Given the description of an element on the screen output the (x, y) to click on. 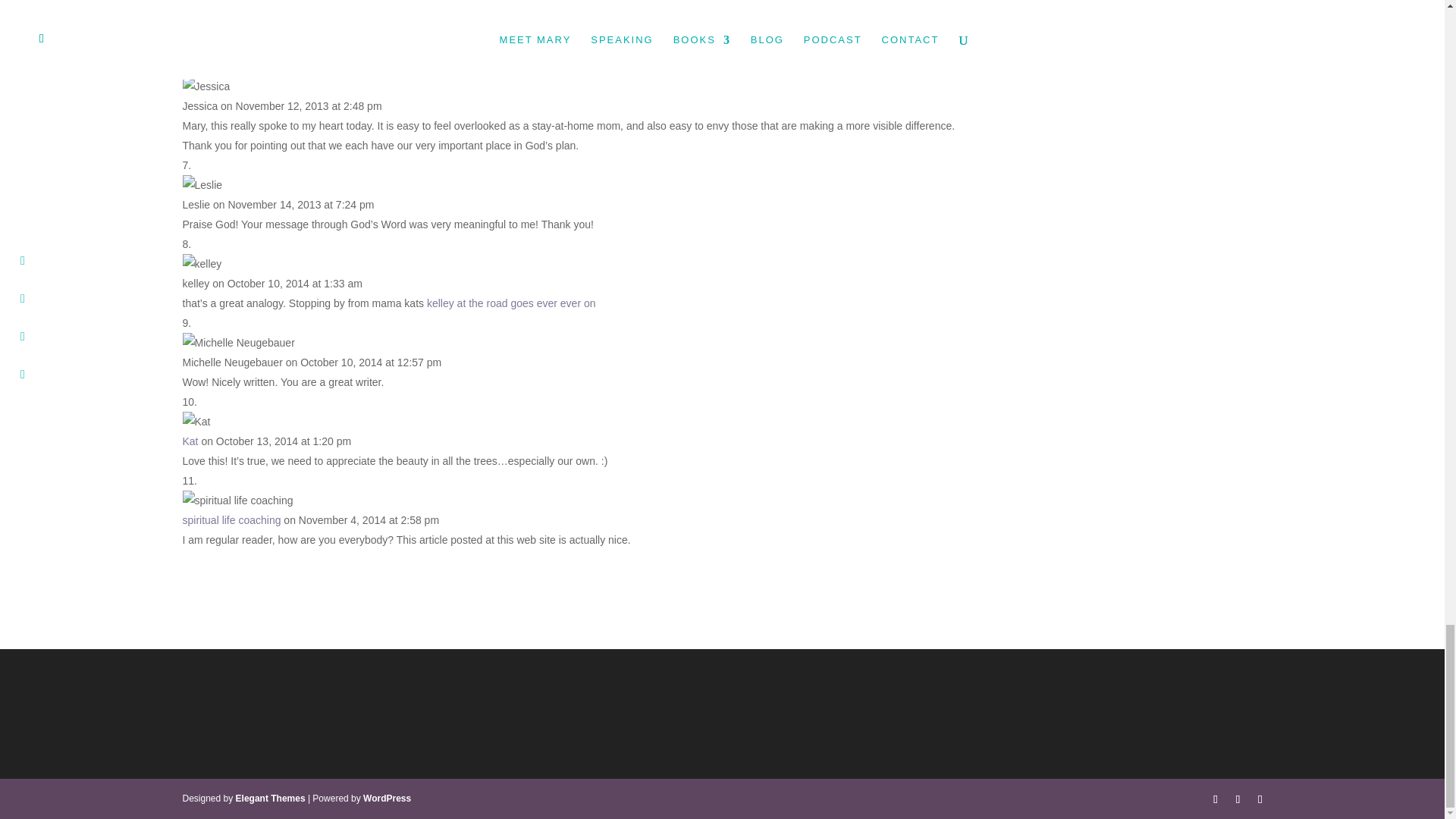
Kat (190, 440)
spiritual life coaching (231, 520)
kelley at the road goes ever ever on (510, 303)
